Given the description of an element on the screen output the (x, y) to click on. 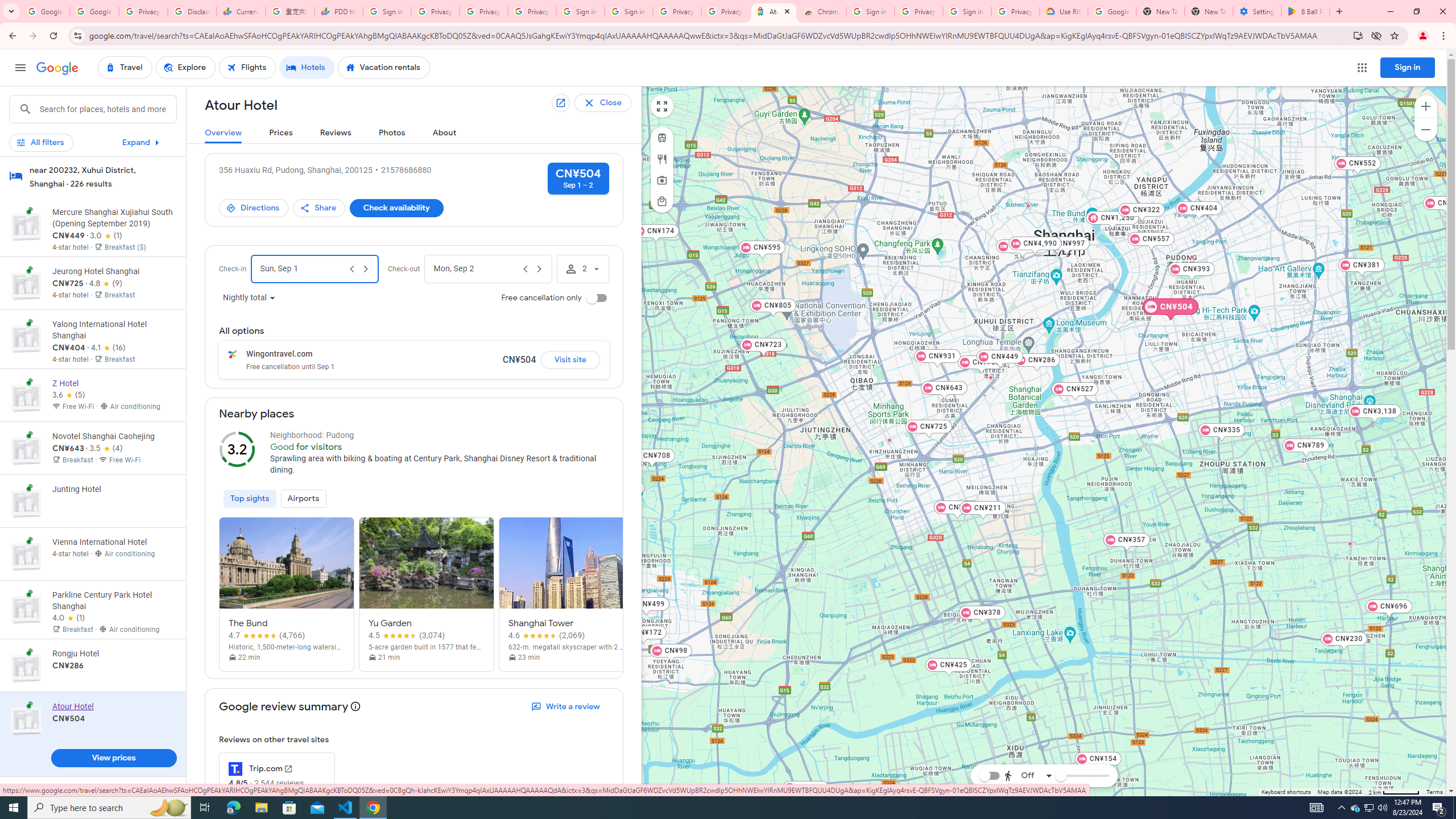
4.7 out of 5 stars from 4,766 reviews (266, 635)
Attractions (661, 180)
Transit (661, 138)
Sign in - Google Accounts (580, 11)
Check-out (475, 268)
